Given the description of an element on the screen output the (x, y) to click on. 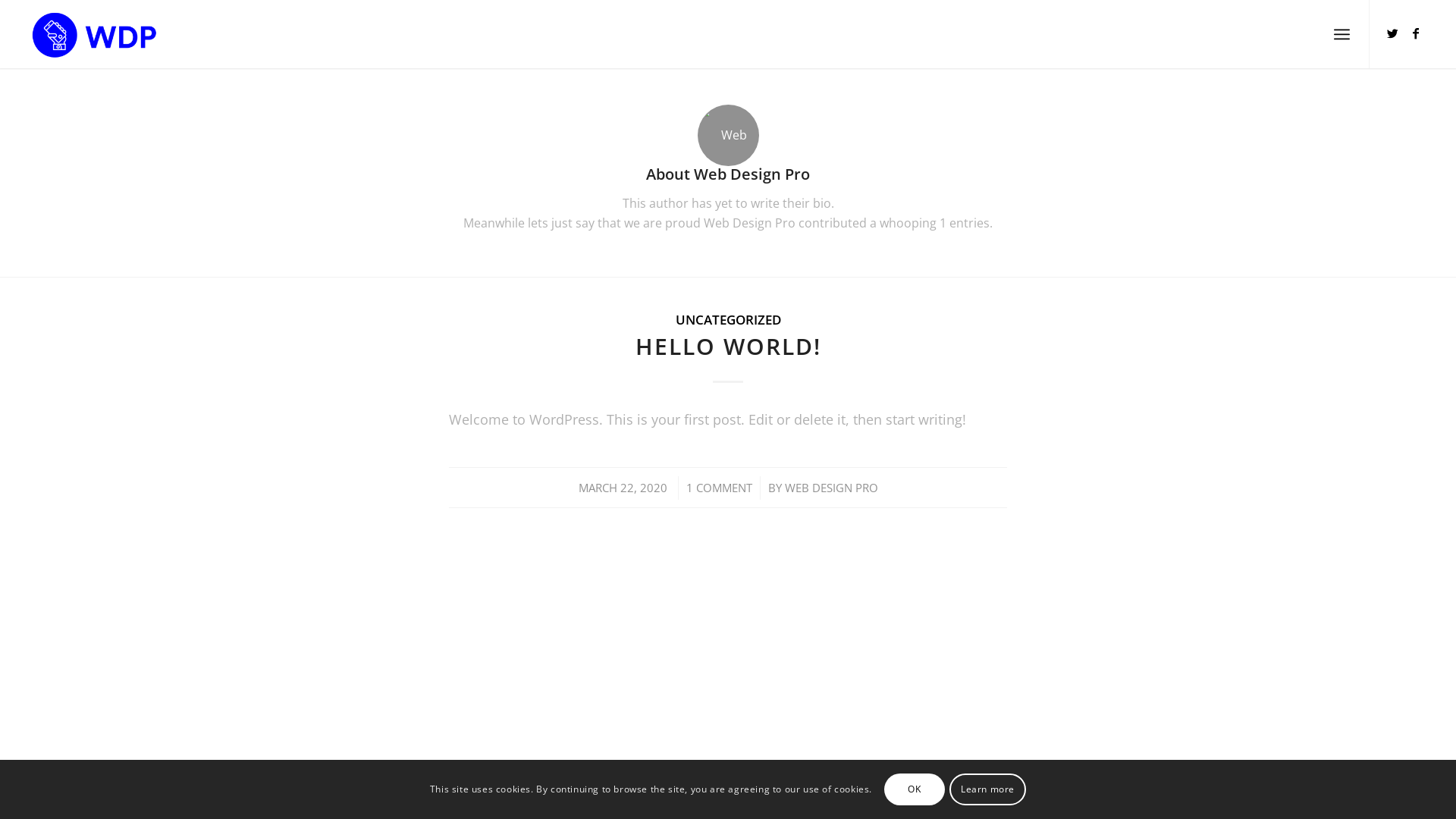
Facebook Element type: hover (1415, 32)
Learn more Element type: text (987, 789)
WEB DESIGN PRO Element type: text (830, 487)
UNCATEGORIZED Element type: text (727, 319)
Twitter Element type: hover (1392, 32)
OK Element type: text (914, 789)
1 COMMENT Element type: text (718, 487)
HELLO WORLD! Element type: text (728, 345)
